Given the description of an element on the screen output the (x, y) to click on. 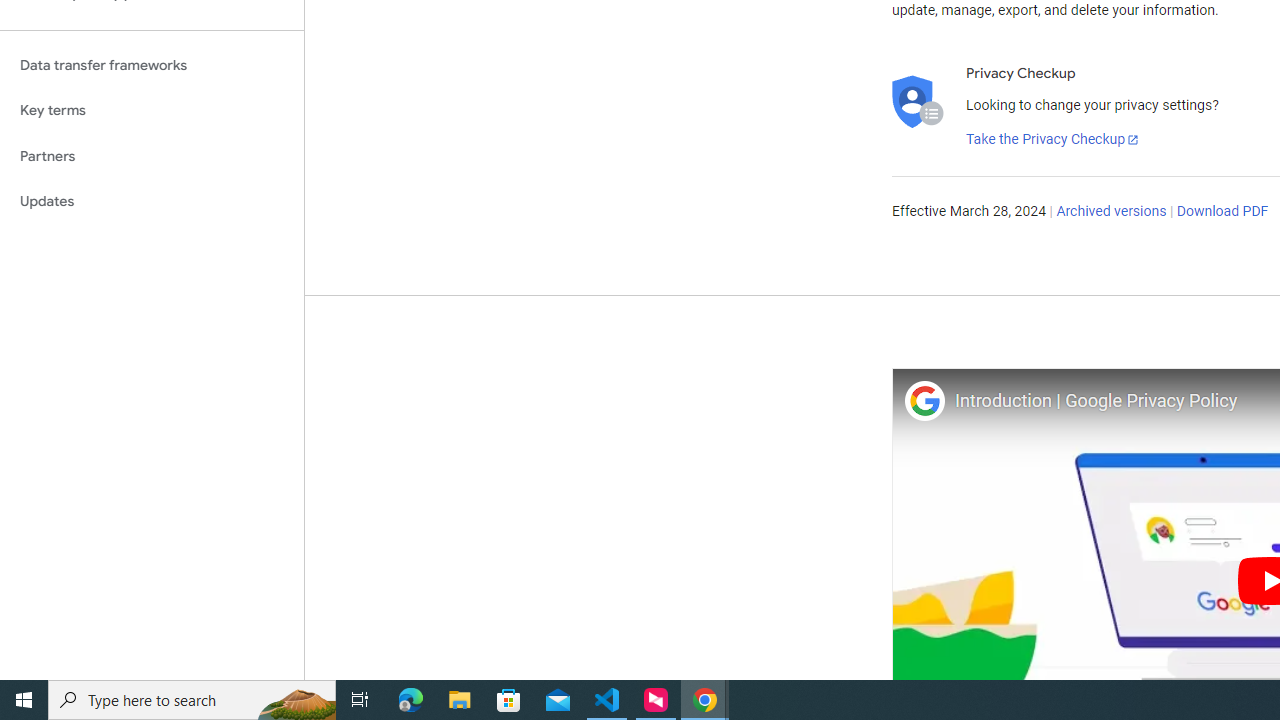
Photo image of Google (924, 400)
Take the Privacy Checkup (1053, 140)
